Given the description of an element on the screen output the (x, y) to click on. 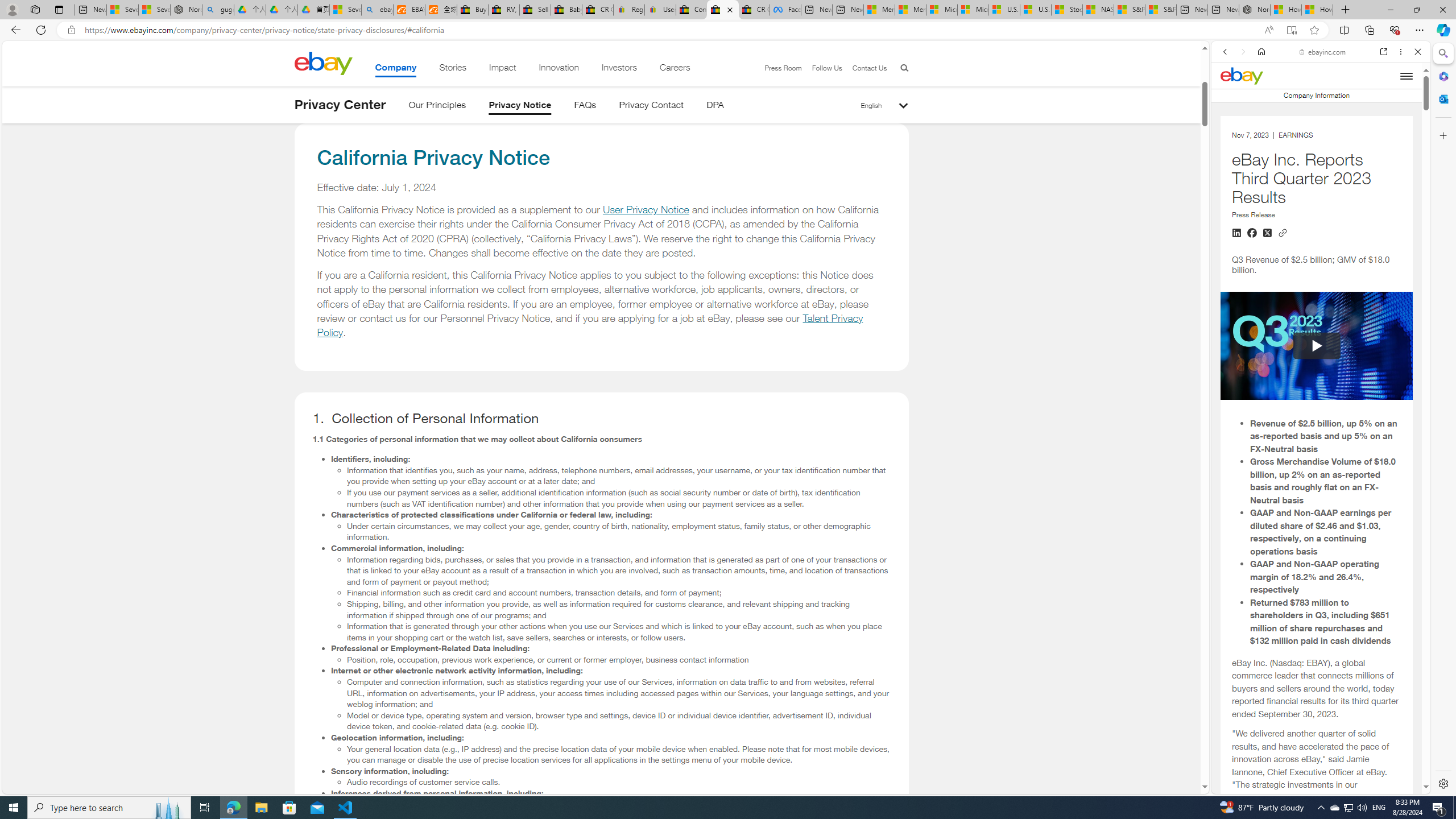
Register: Create a personal eBay account (628, 9)
Enter Immersive Reader (F9) (1291, 29)
Web scope (1230, 102)
Forward (1242, 51)
Buy Auto Parts & Accessories | eBay (472, 9)
